Given the description of an element on the screen output the (x, y) to click on. 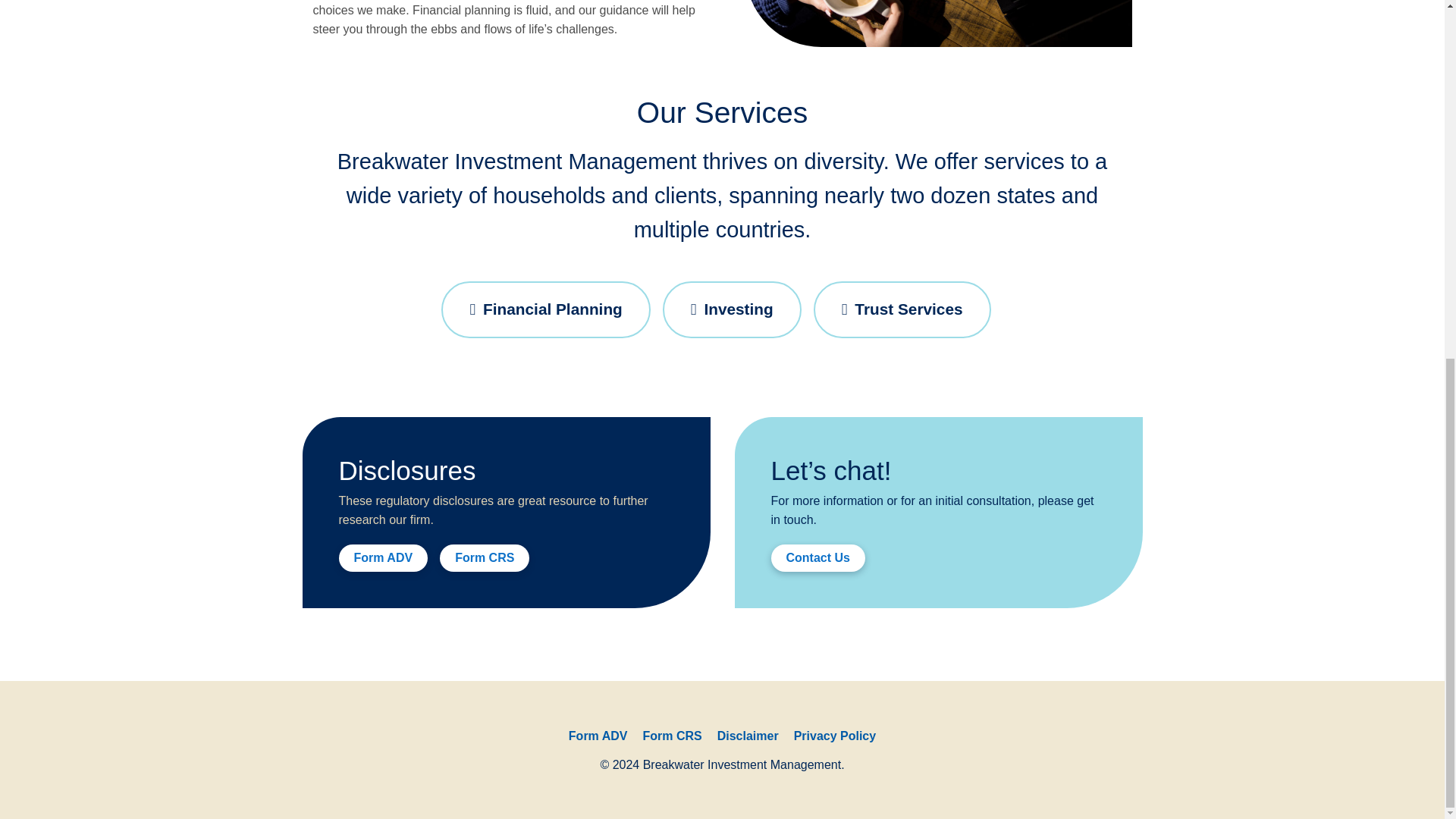
Investing (732, 309)
Form CRS (671, 735)
Form ADV (382, 557)
Privacy Policy (834, 735)
Form ADV (598, 735)
Disclaimer (747, 735)
Contact Us (817, 557)
Trust Services (902, 309)
Financial Planning (545, 309)
Form CRS (484, 557)
